Given the description of an element on the screen output the (x, y) to click on. 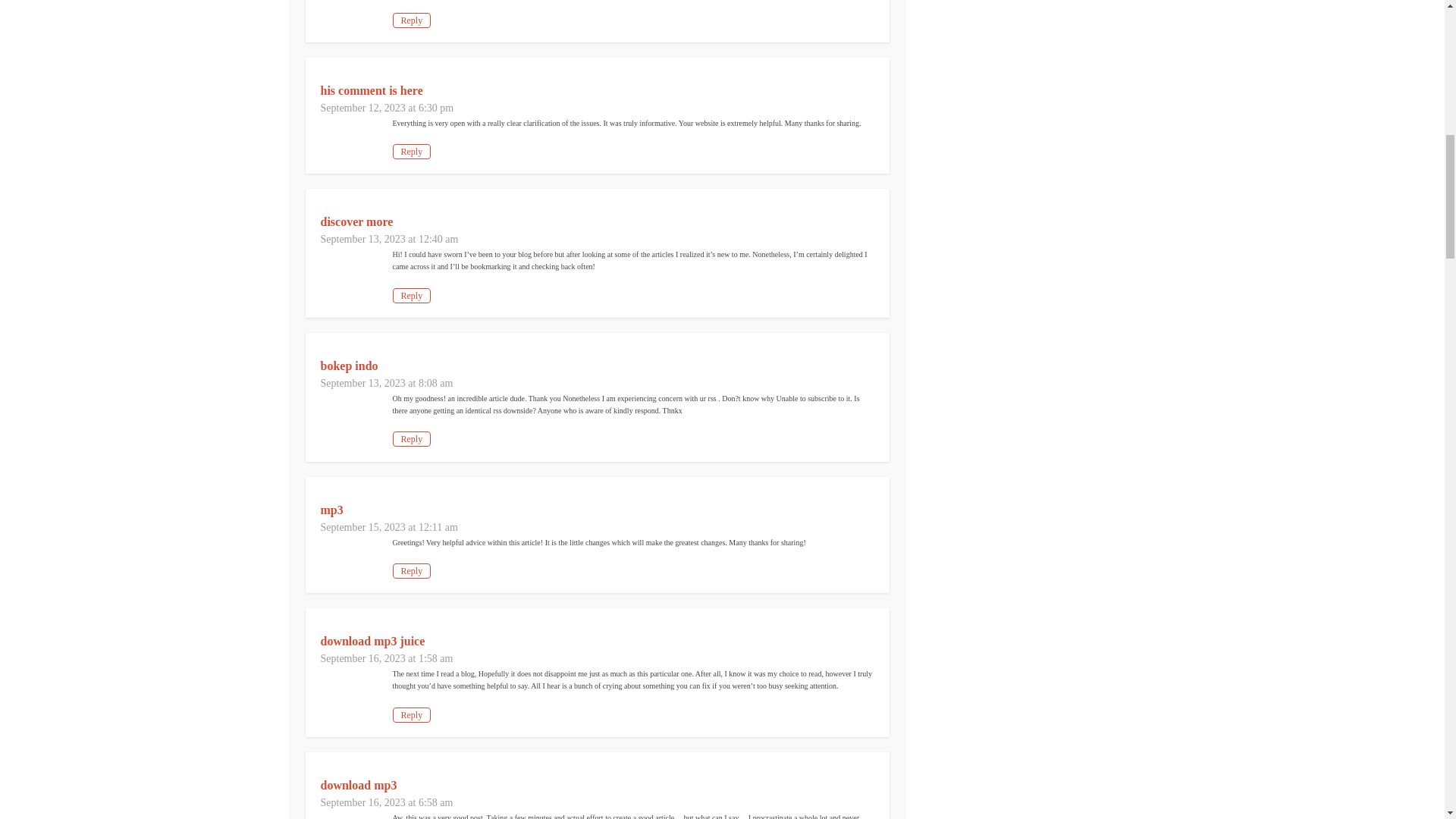
his comment is here (371, 90)
Reply (411, 151)
discover more (356, 221)
September 12, 2023 at 6:30 pm (386, 107)
Reply (411, 20)
